Given the description of an element on the screen output the (x, y) to click on. 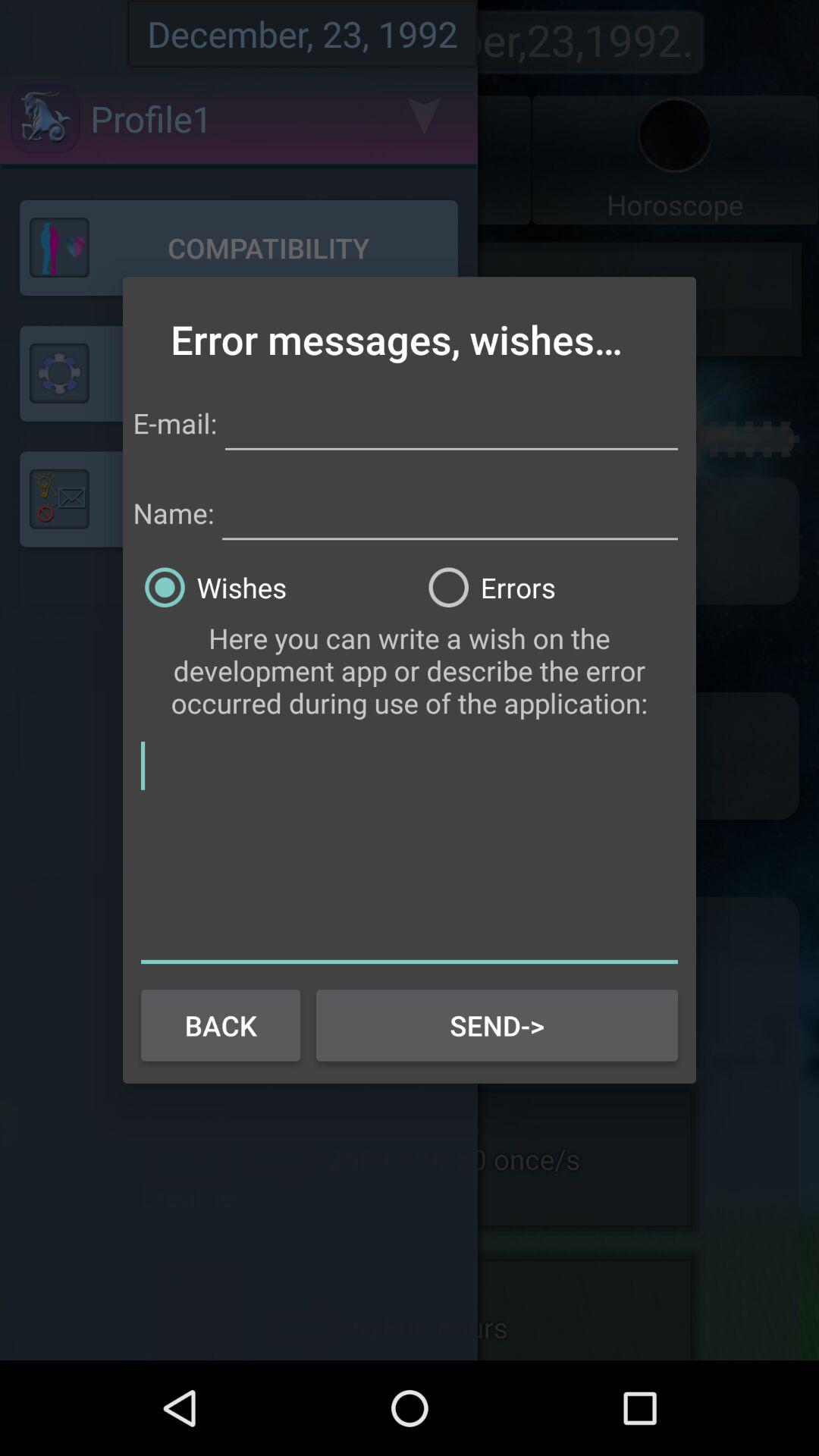
add comment (409, 849)
